Given the description of an element on the screen output the (x, y) to click on. 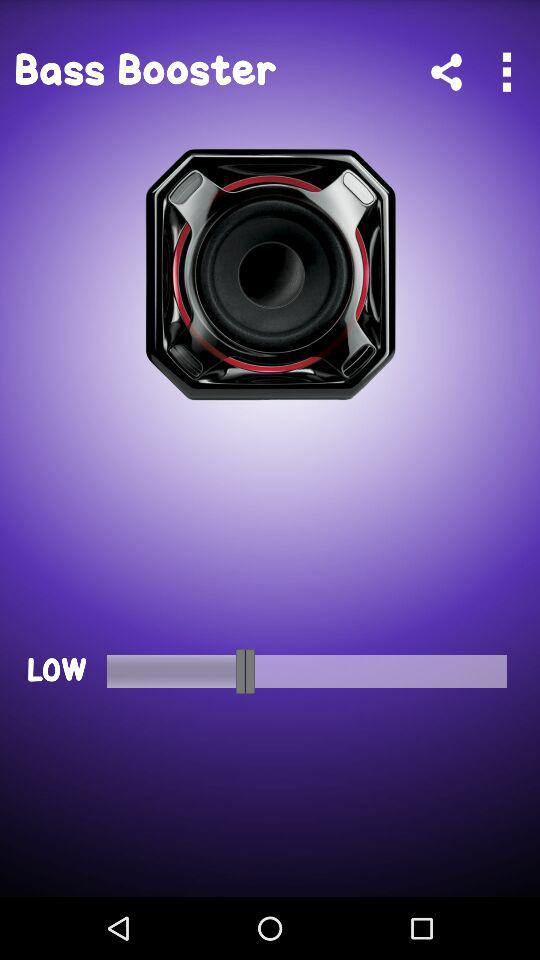
tap the item to the right of bass booster (446, 72)
